Given the description of an element on the screen output the (x, y) to click on. 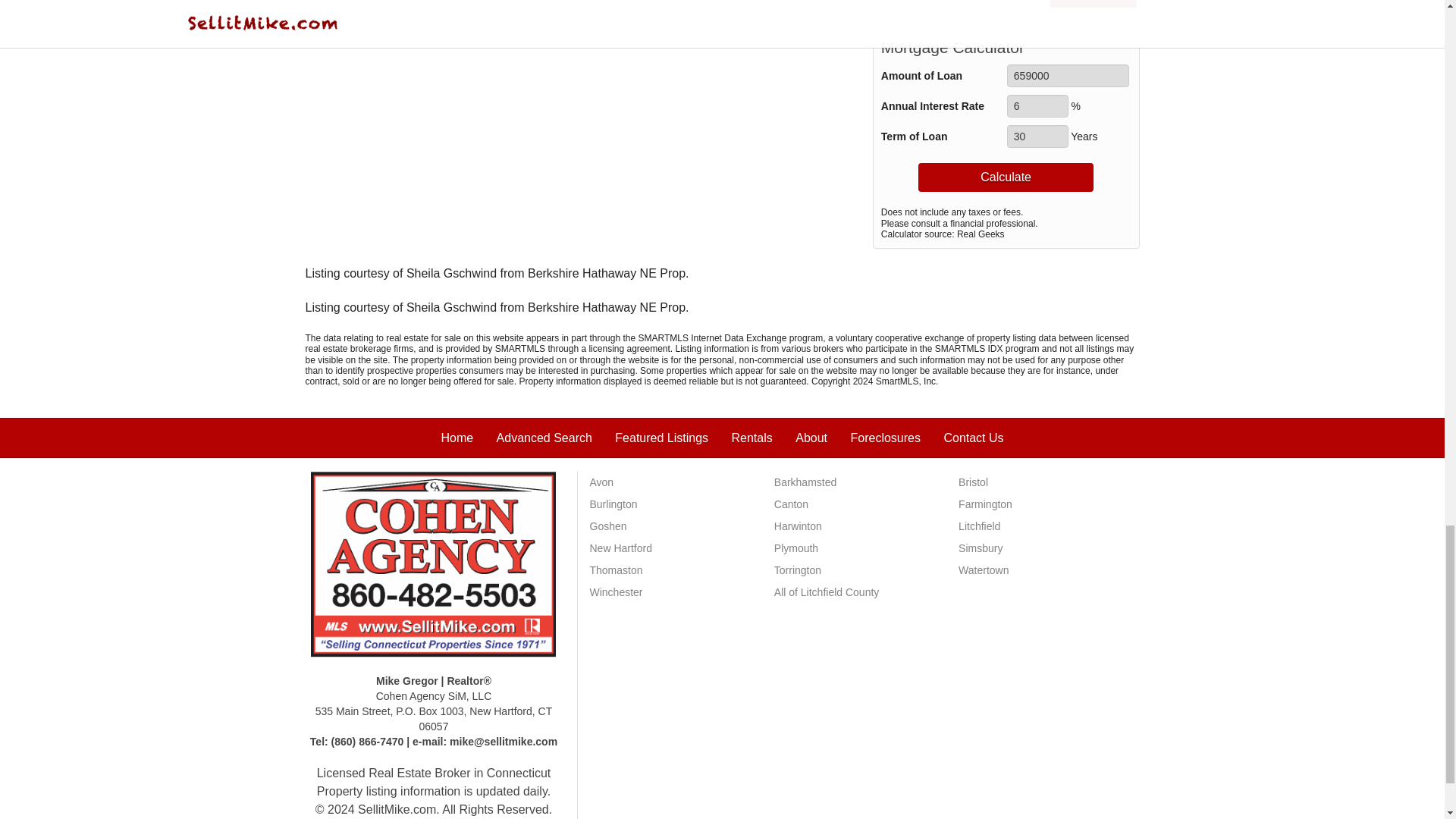
30 (1037, 136)
6 (1037, 106)
659000 (1068, 75)
